Given the description of an element on the screen output the (x, y) to click on. 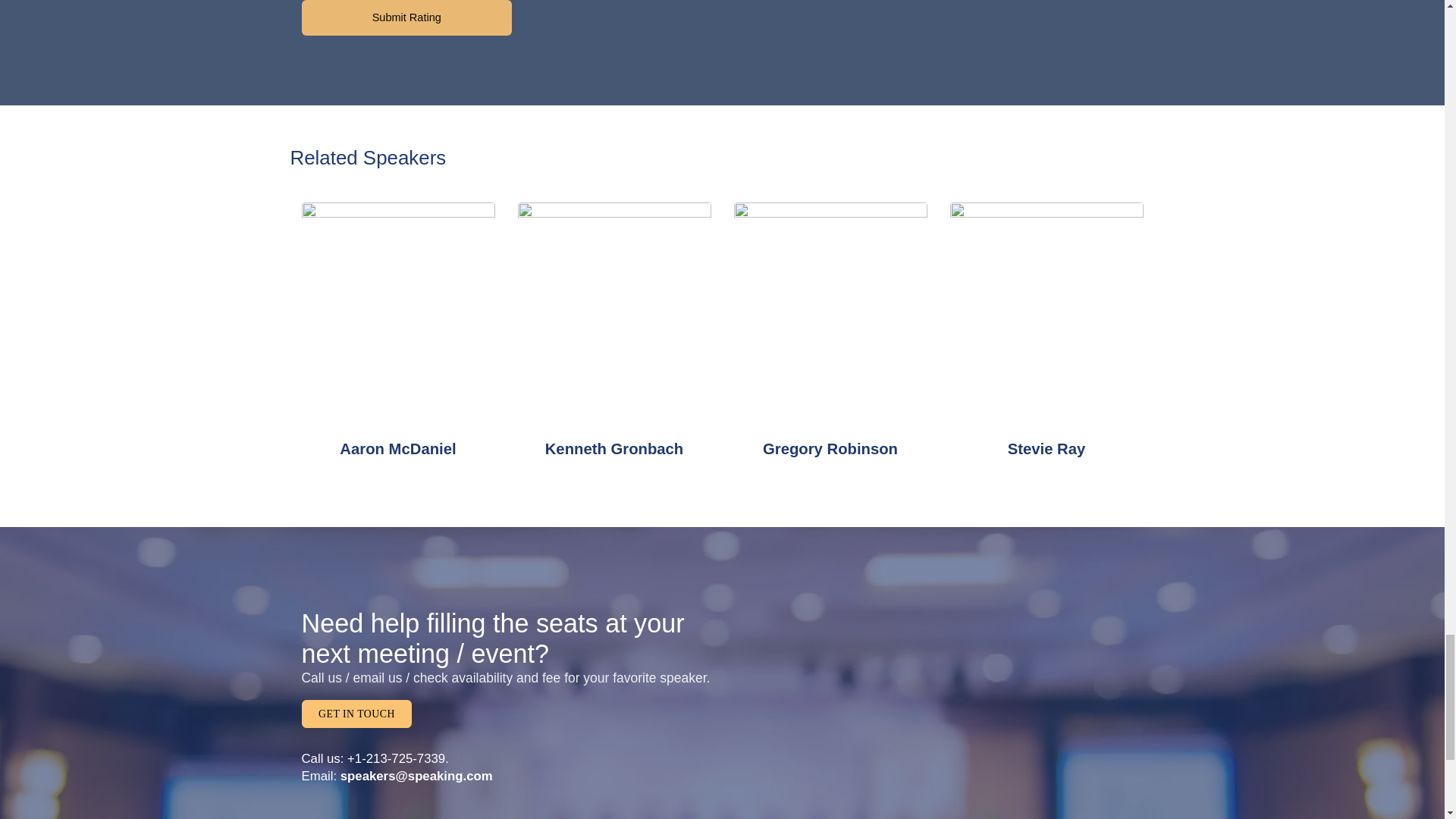
Submit Rating (406, 18)
